Given the description of an element on the screen output the (x, y) to click on. 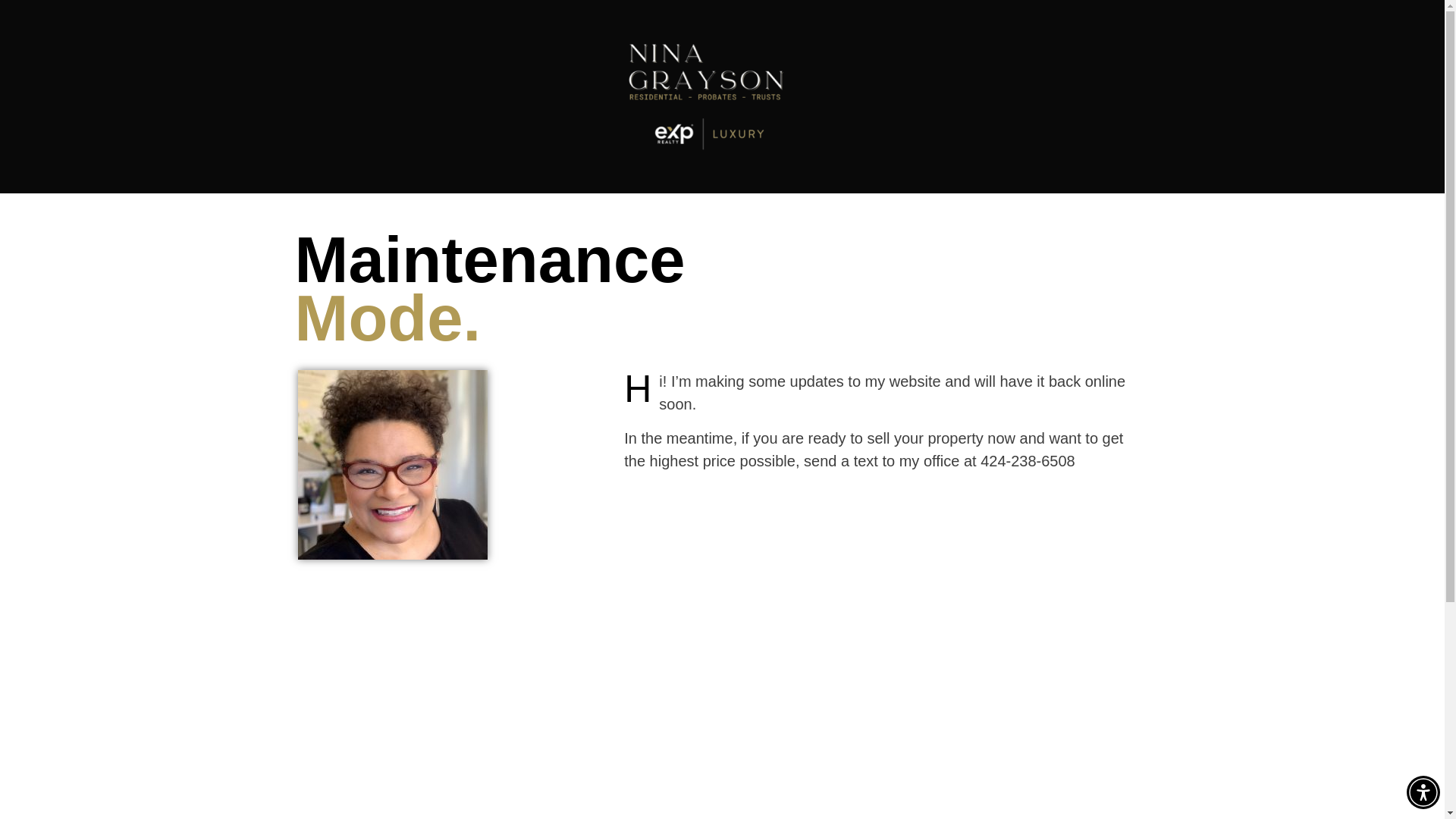
Accessibility Menu (1422, 792)
